Given the description of an element on the screen output the (x, y) to click on. 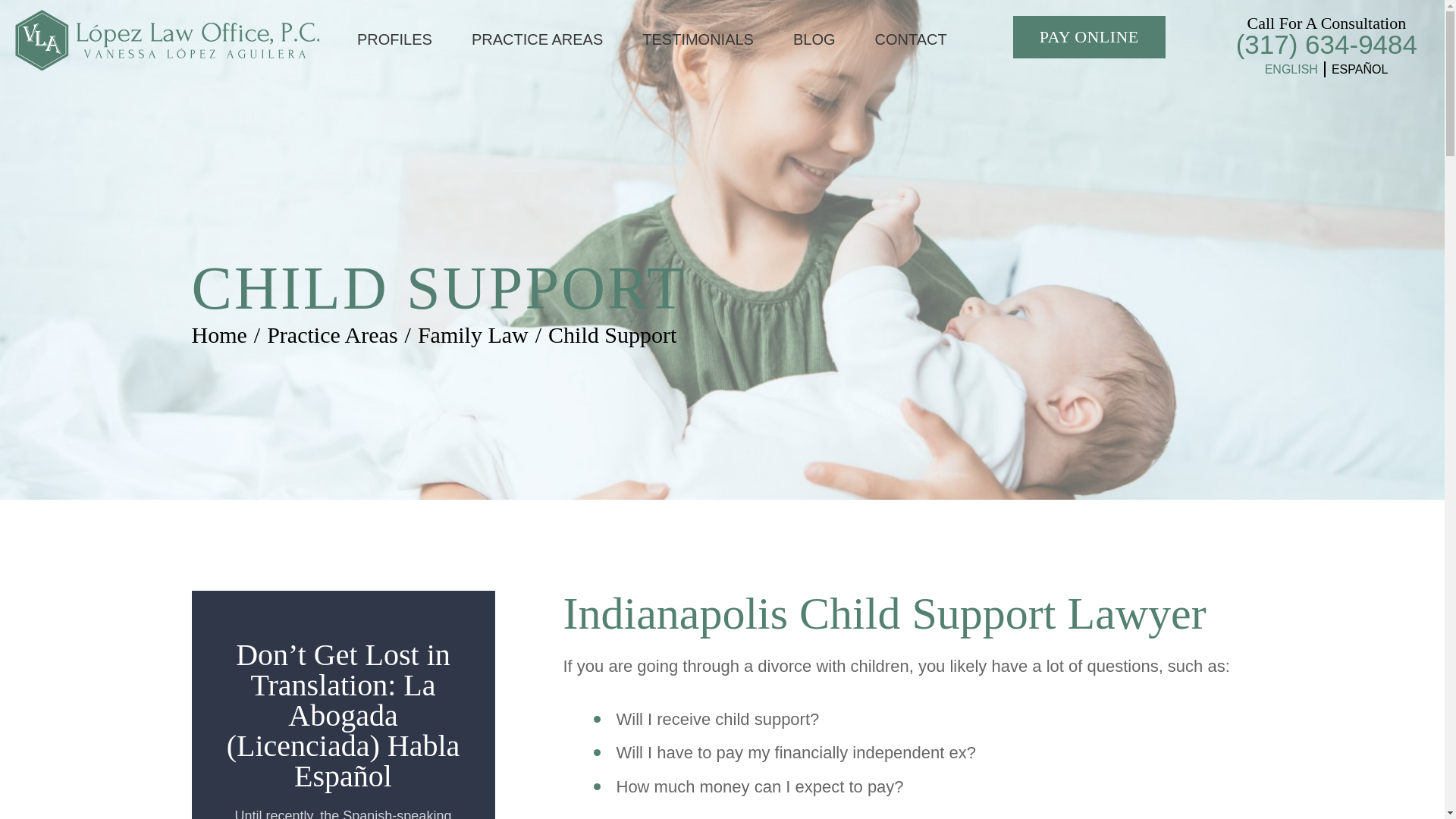
Go to Practice Areas. (331, 334)
Go to Family Law. (472, 334)
Go to Lopez Law Office. (218, 334)
